Given the description of an element on the screen output the (x, y) to click on. 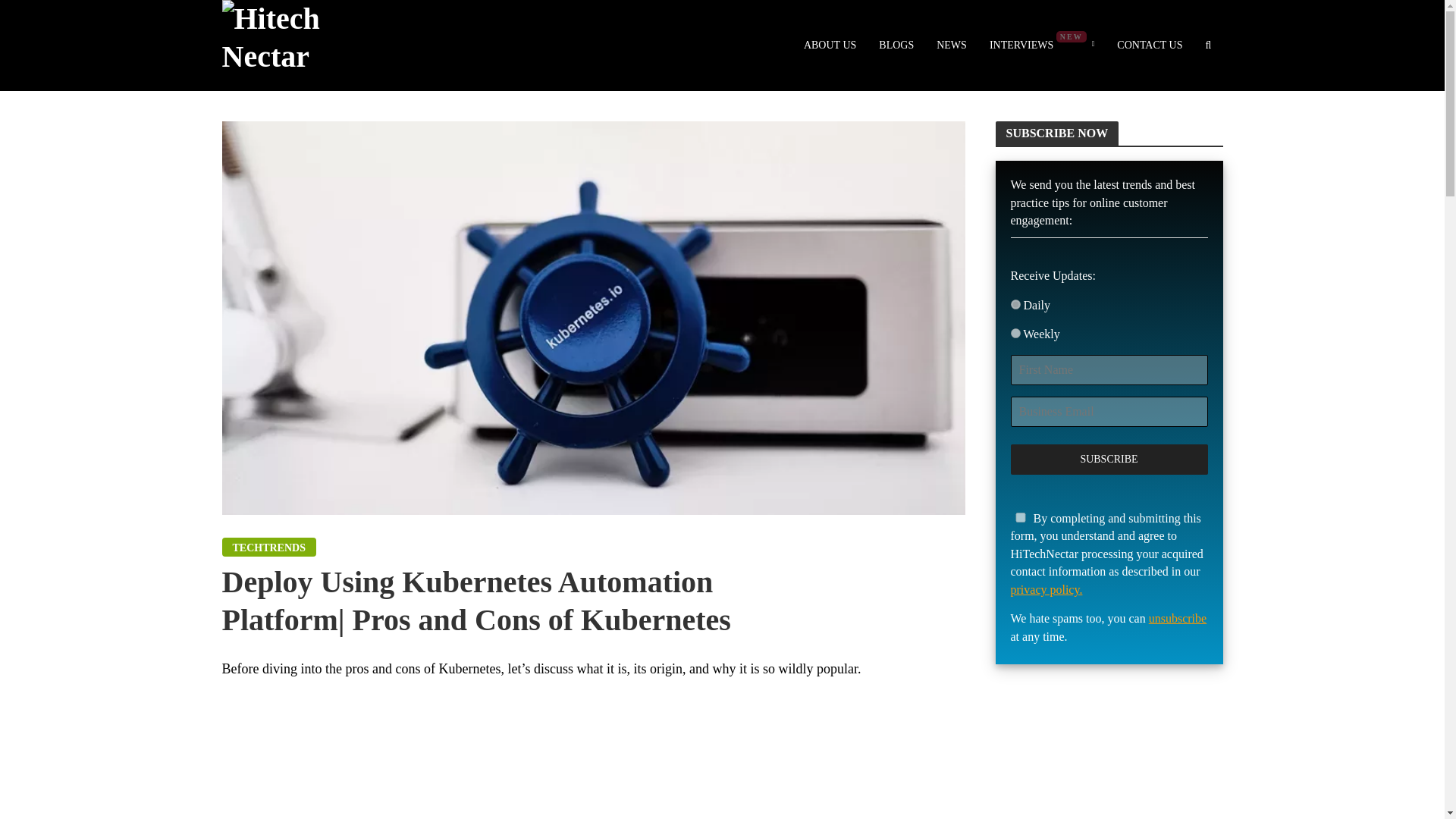
TECHTRENDS (268, 546)
CONTACT US (1149, 45)
on (1015, 304)
Subscribe (1108, 459)
Advertisement (592, 760)
on (1019, 517)
ABOUT US (829, 45)
on (1015, 333)
BLOGS (895, 45)
INTERVIEWS NEW (1041, 45)
NEWS (951, 45)
